Given the description of an element on the screen output the (x, y) to click on. 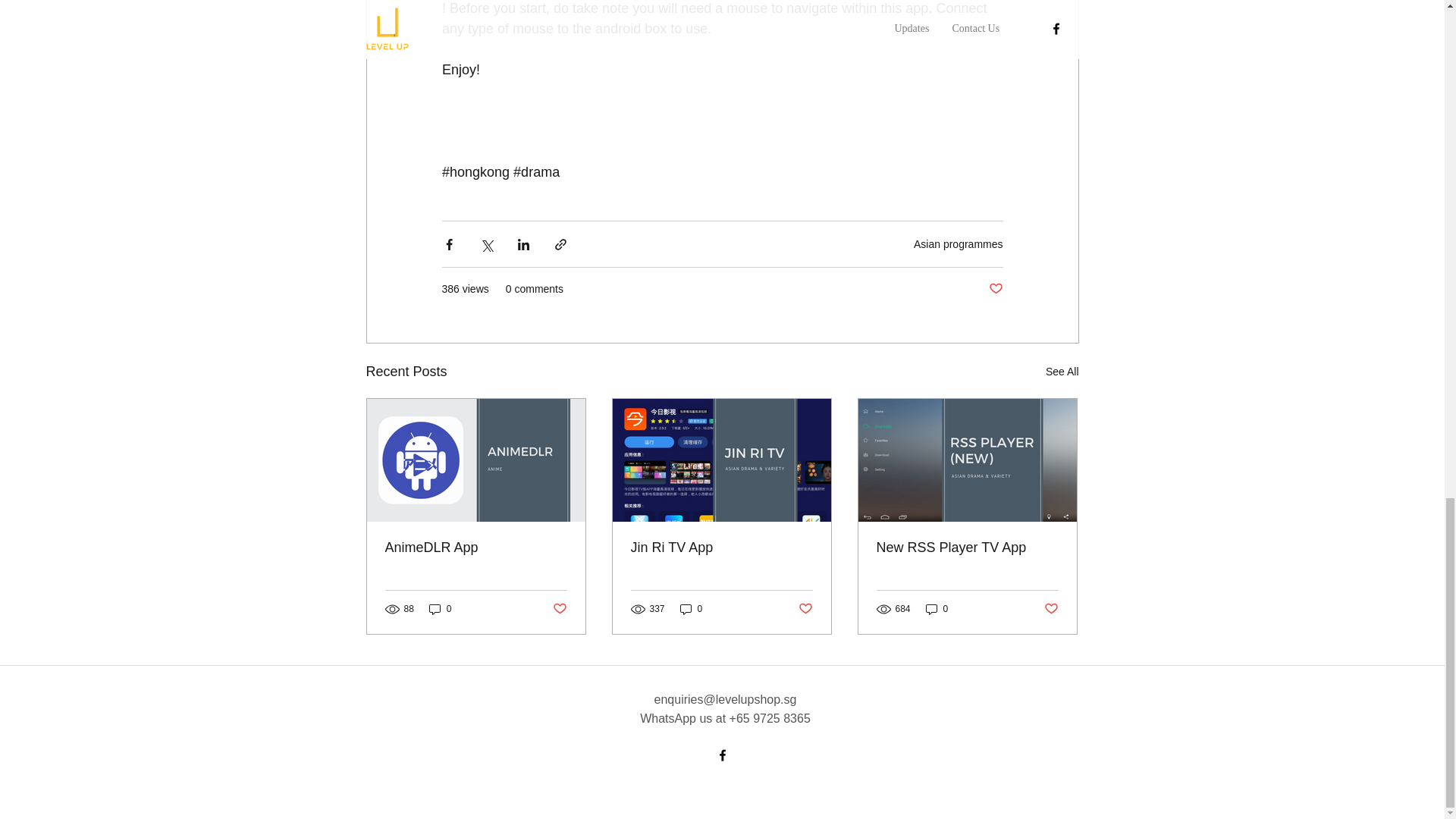
0 (440, 608)
Post not marked as liked (995, 289)
Asian programmes (958, 243)
AnimeDLR App (476, 547)
Post not marked as liked (1050, 609)
New RSS Player TV App (967, 547)
Jin Ri TV App (721, 547)
0 (691, 608)
0 (937, 608)
Post not marked as liked (558, 609)
